Given the description of an element on the screen output the (x, y) to click on. 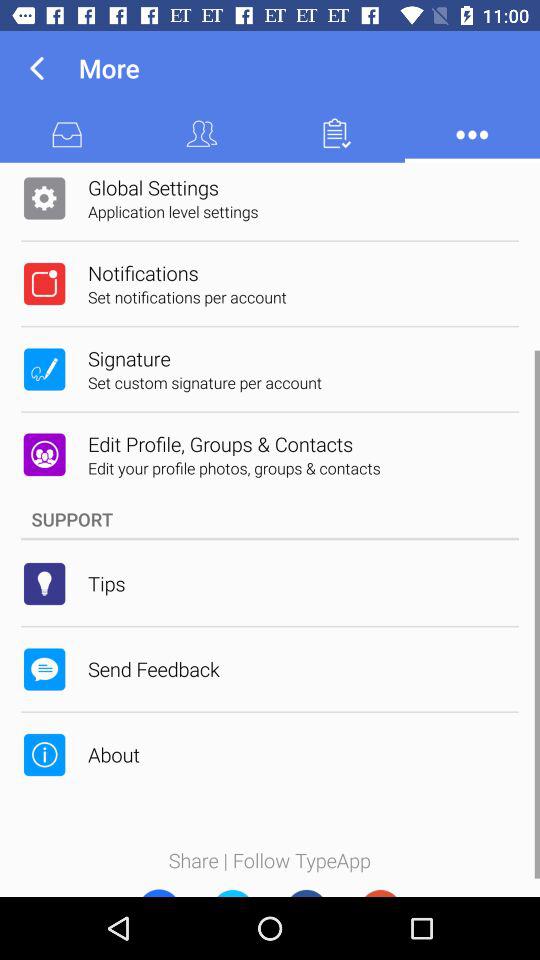
turn off application level settings icon (173, 211)
